Given the description of an element on the screen output the (x, y) to click on. 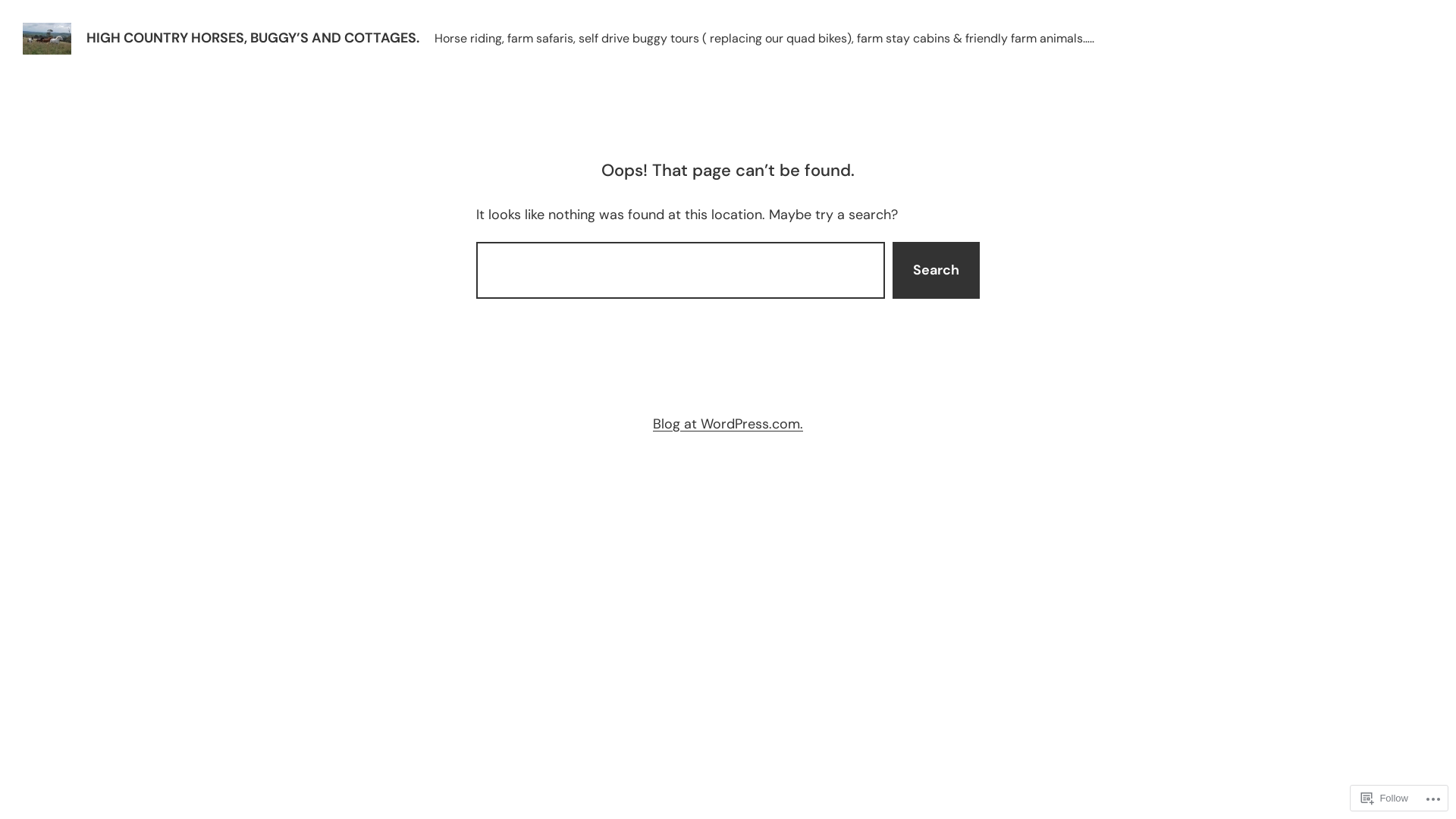
Blog at WordPress.com. Element type: text (727, 423)
Follow Element type: text (1384, 797)
Search Element type: text (935, 269)
